Given the description of an element on the screen output the (x, y) to click on. 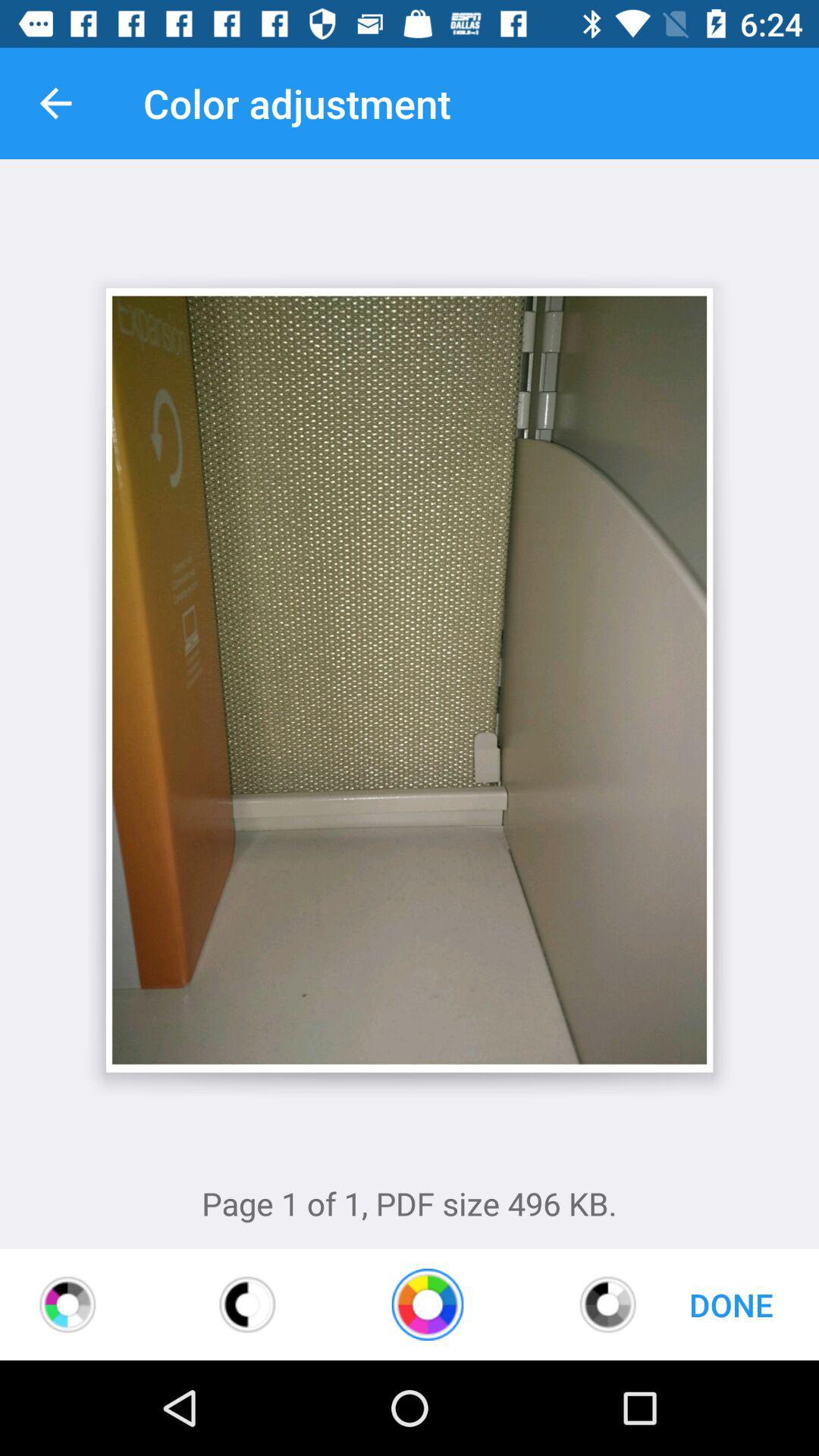
open icon at the top left corner (55, 103)
